Given the description of an element on the screen output the (x, y) to click on. 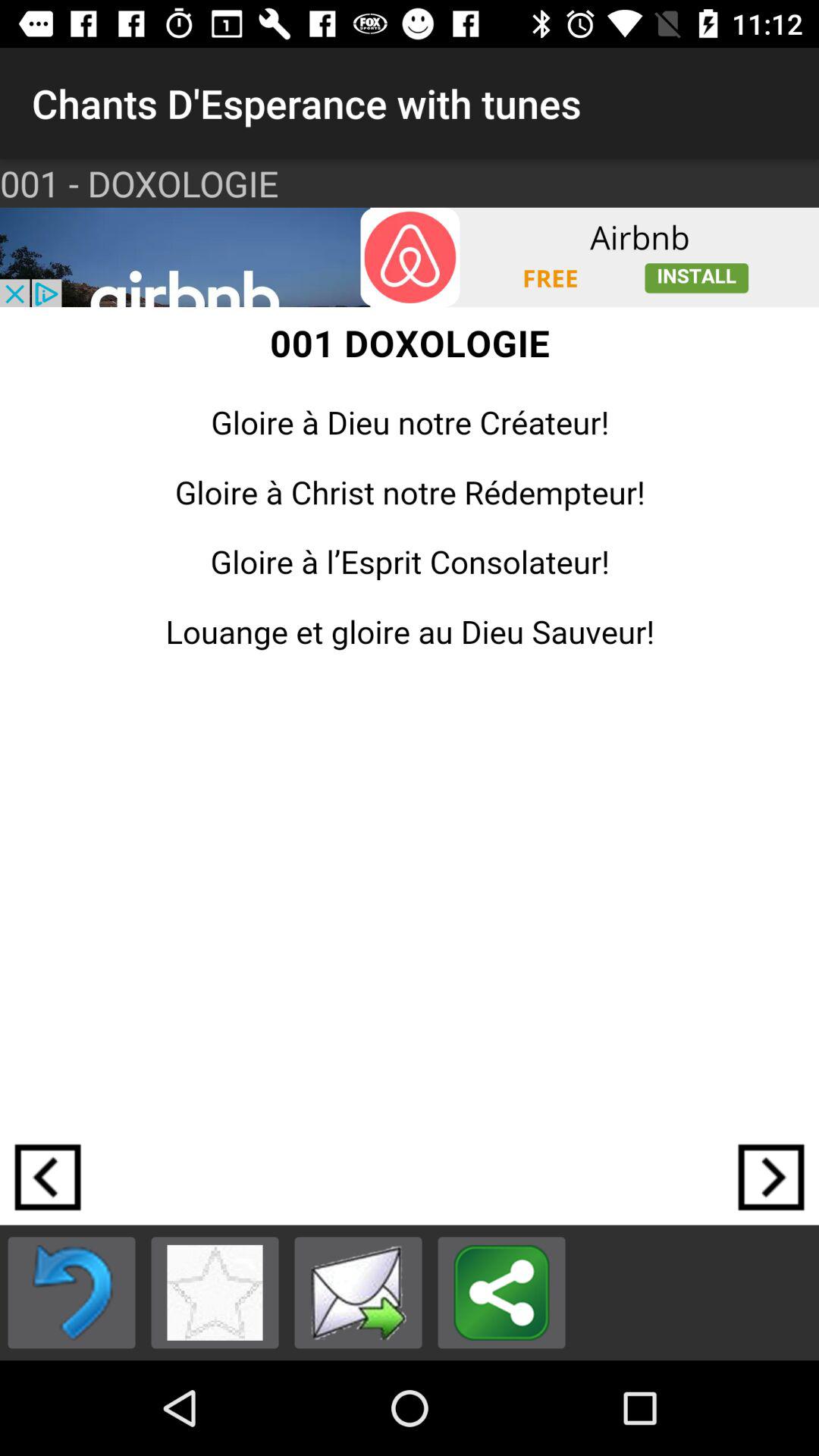
share (501, 1292)
